Given the description of an element on the screen output the (x, y) to click on. 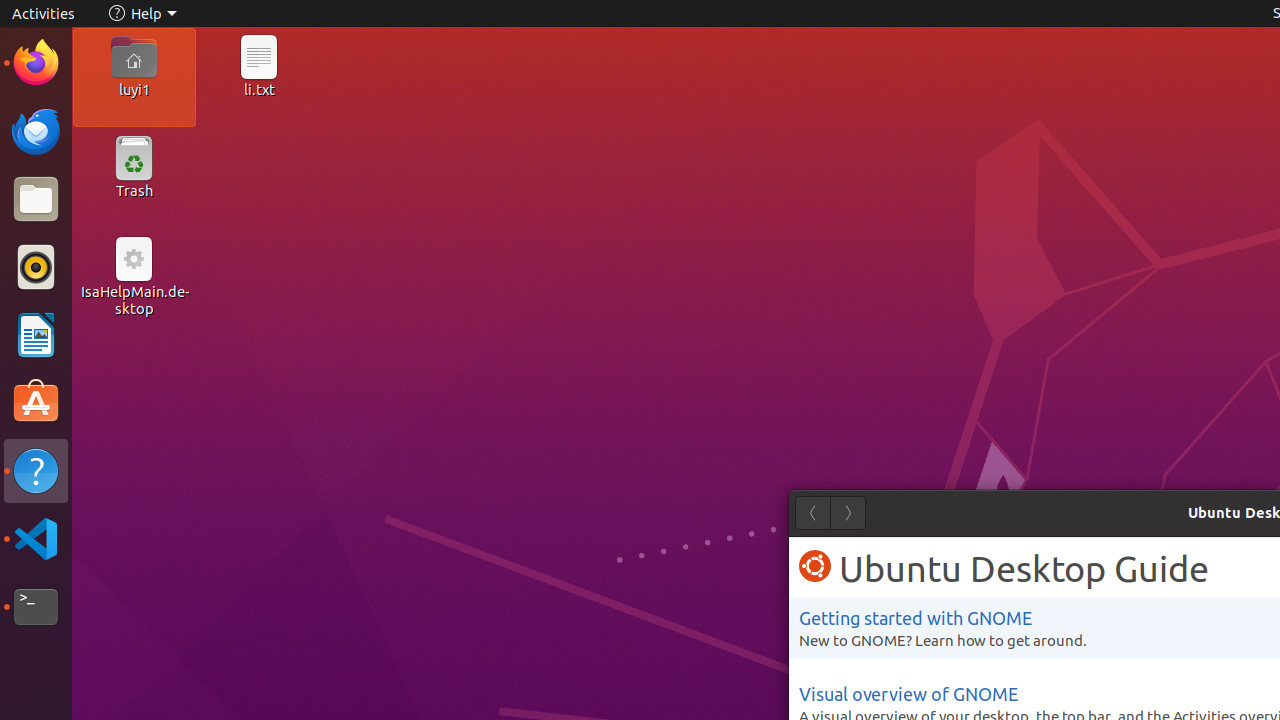
Activities Element type: label (43, 13)
